Given the description of an element on the screen output the (x, y) to click on. 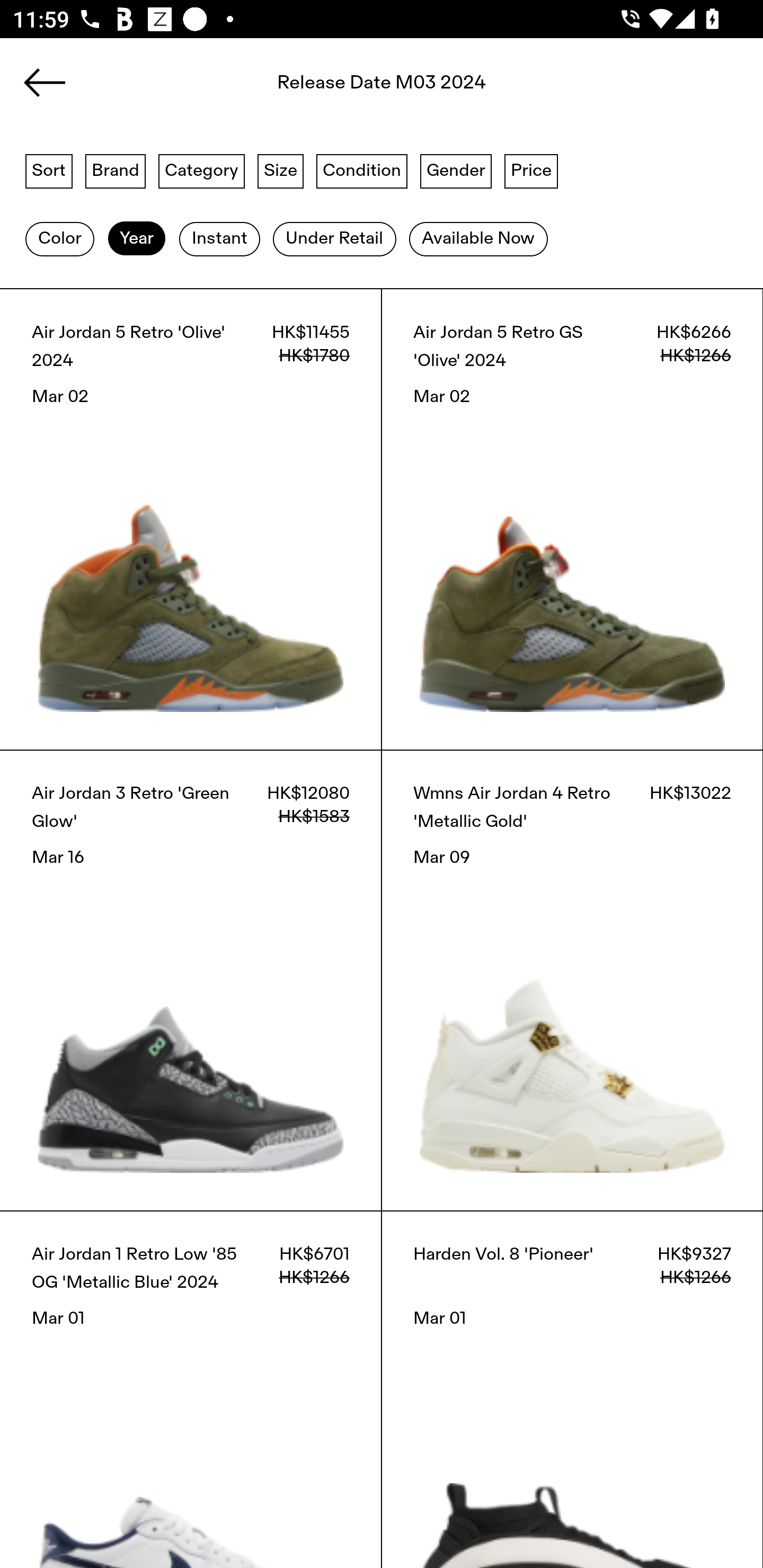
Sort (48, 170)
Brand (115, 170)
Category (201, 170)
Size (280, 170)
Condition (361, 170)
Gender (455, 170)
Price (530, 170)
Color (59, 239)
Year (136, 239)
Instant (219, 239)
Under Retail (334, 239)
Available Now (477, 239)
Harden Vol. 8 'Pioneer' HK$9327 HK$1266 Mar 01 (572, 1389)
